Given the description of an element on the screen output the (x, y) to click on. 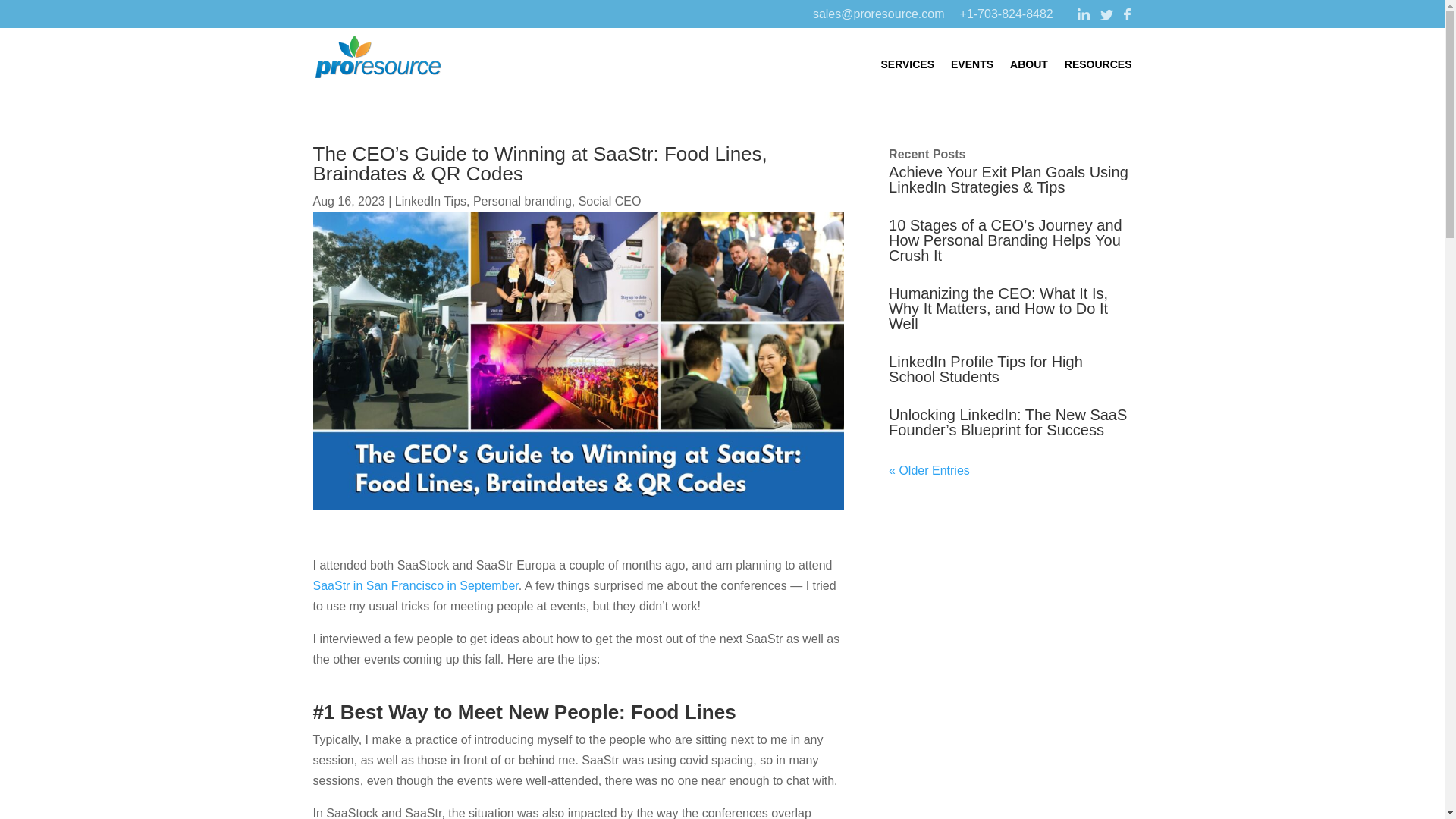
SERVICES (907, 64)
RESOURCES (1098, 64)
Personal branding (522, 201)
Social CEO (610, 201)
LinkedIn Profile Tips for High School Students (985, 368)
LinkedIn Tips (429, 201)
SaaStr in San Francisco in September (415, 585)
